Given the description of an element on the screen output the (x, y) to click on. 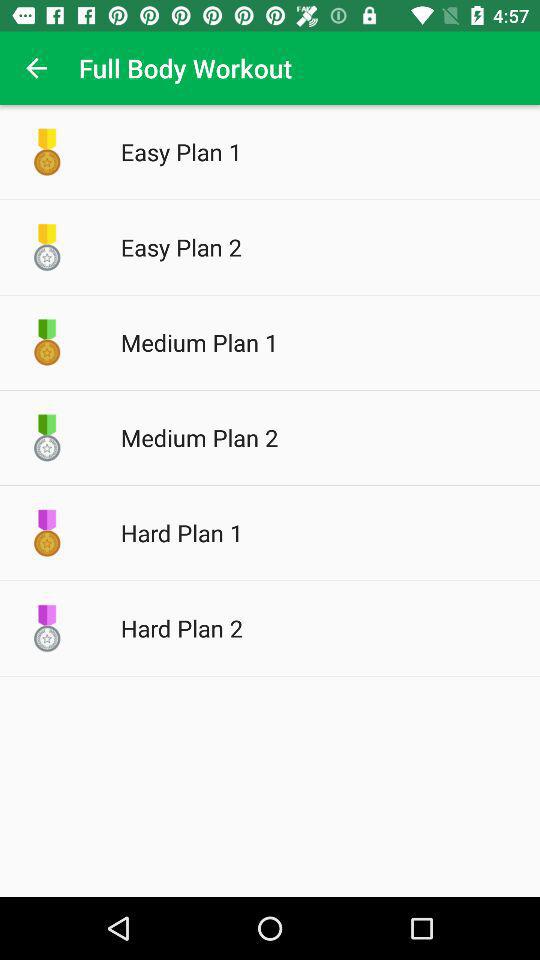
press item next to full body workout (36, 68)
